Given the description of an element on the screen output the (x, y) to click on. 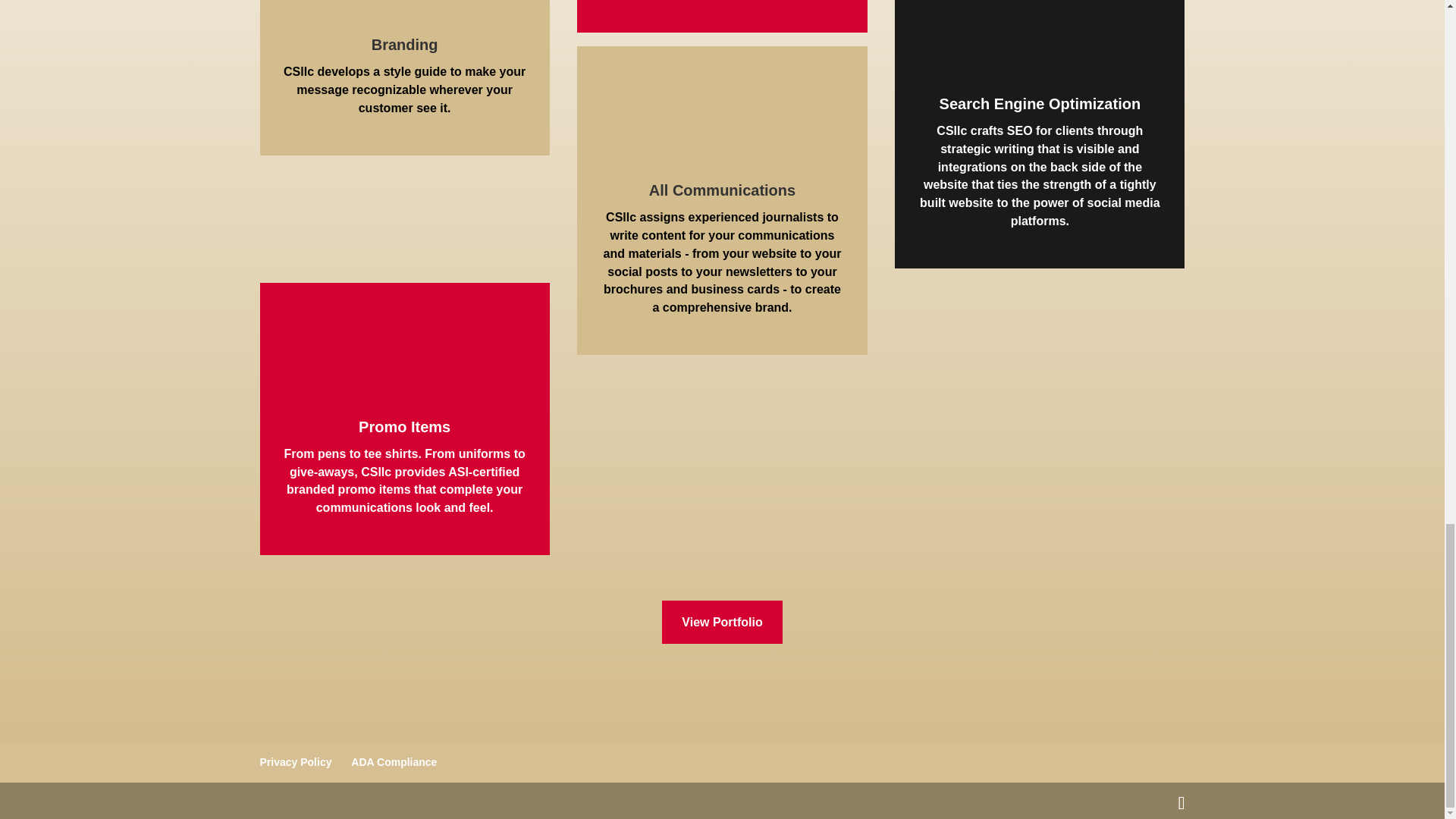
View Portfolio (721, 621)
ADA Compliance (393, 761)
Branding (404, 44)
Privacy Policy (295, 761)
